Given the description of an element on the screen output the (x, y) to click on. 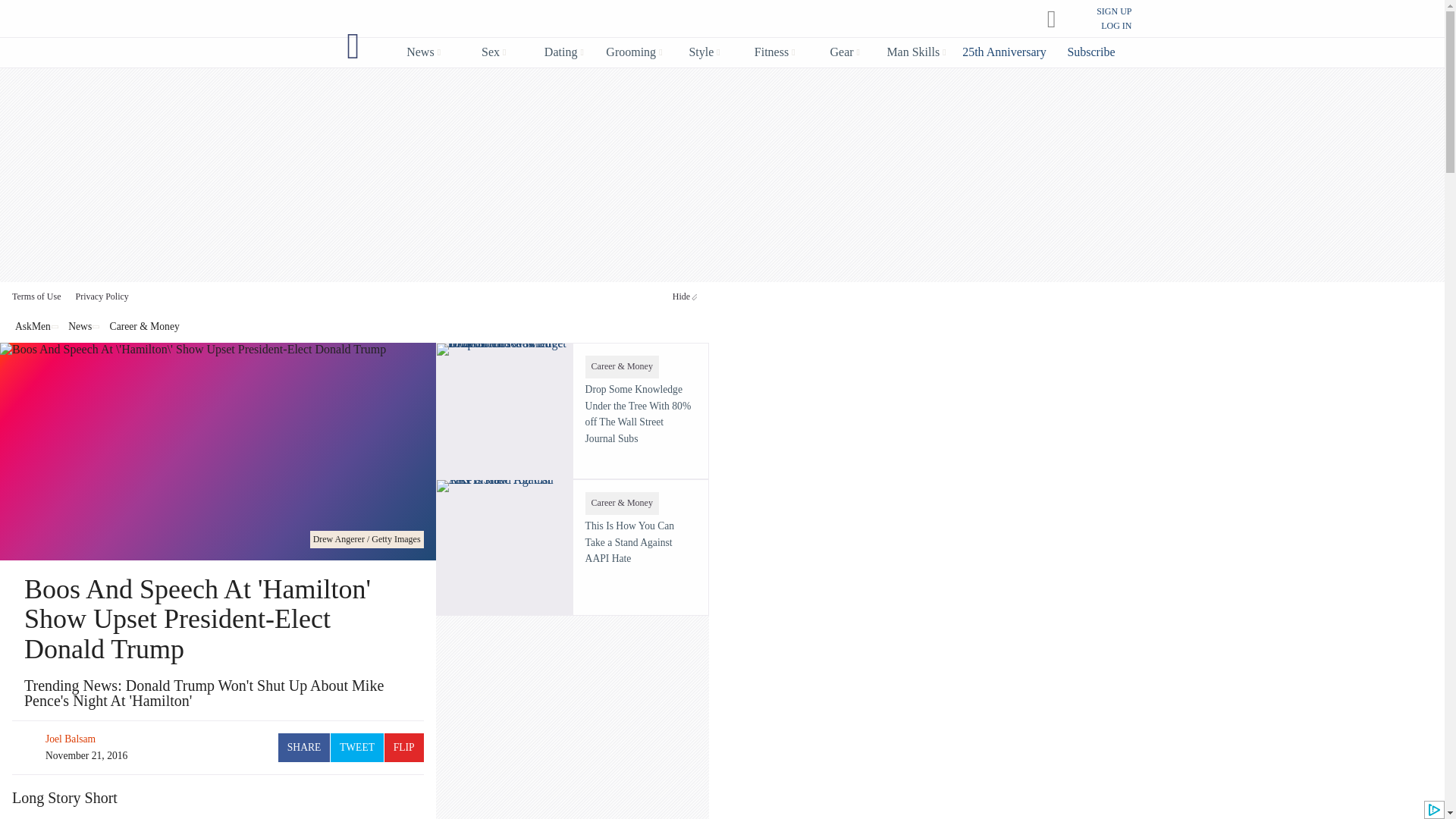
SIGN UP (1113, 11)
GuyQ (352, 45)
AskMen (706, 20)
LOG IN (1115, 25)
